Given the description of an element on the screen output the (x, y) to click on. 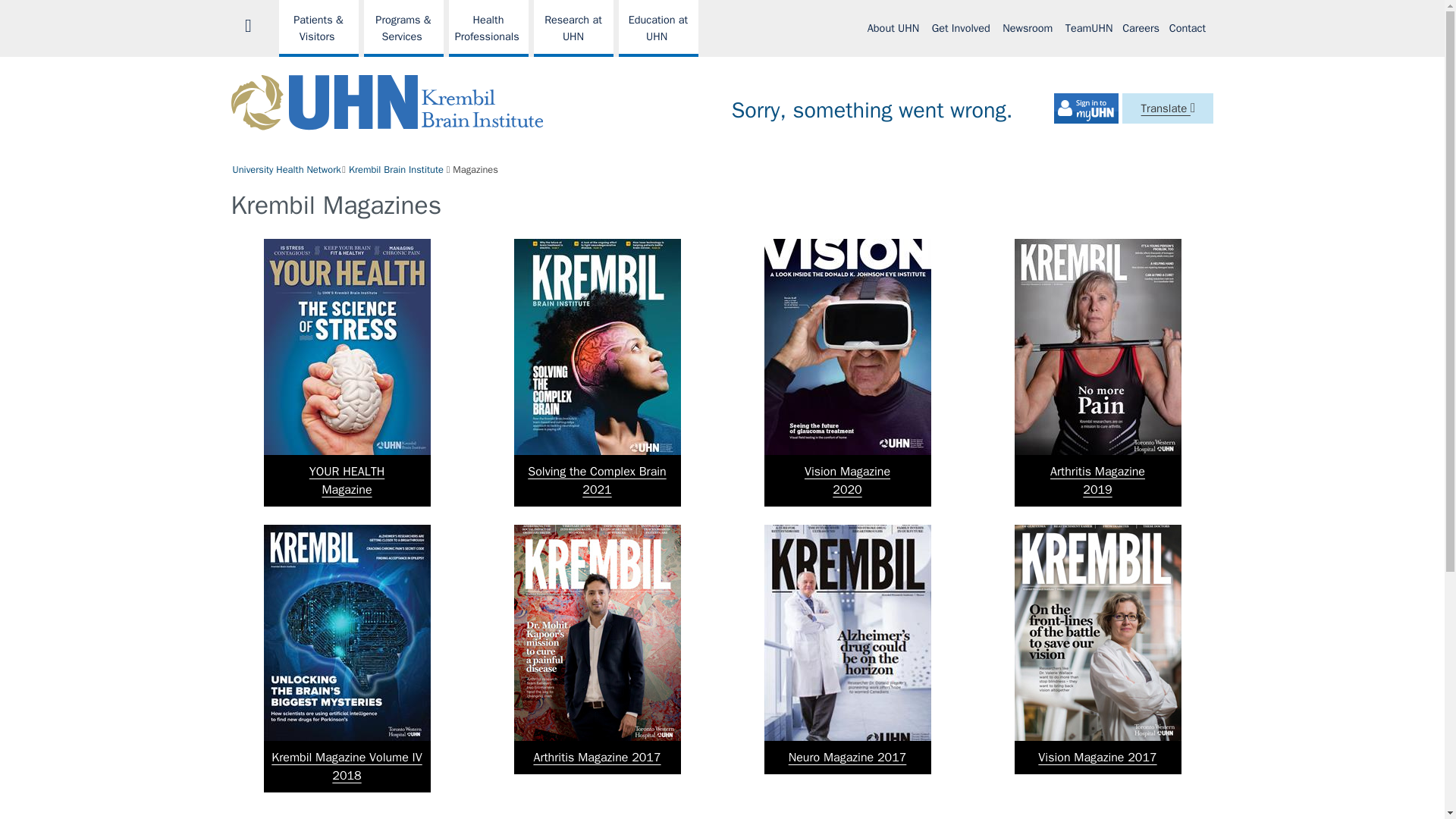
University Health Network Programs (318, 28)
